Given the description of an element on the screen output the (x, y) to click on. 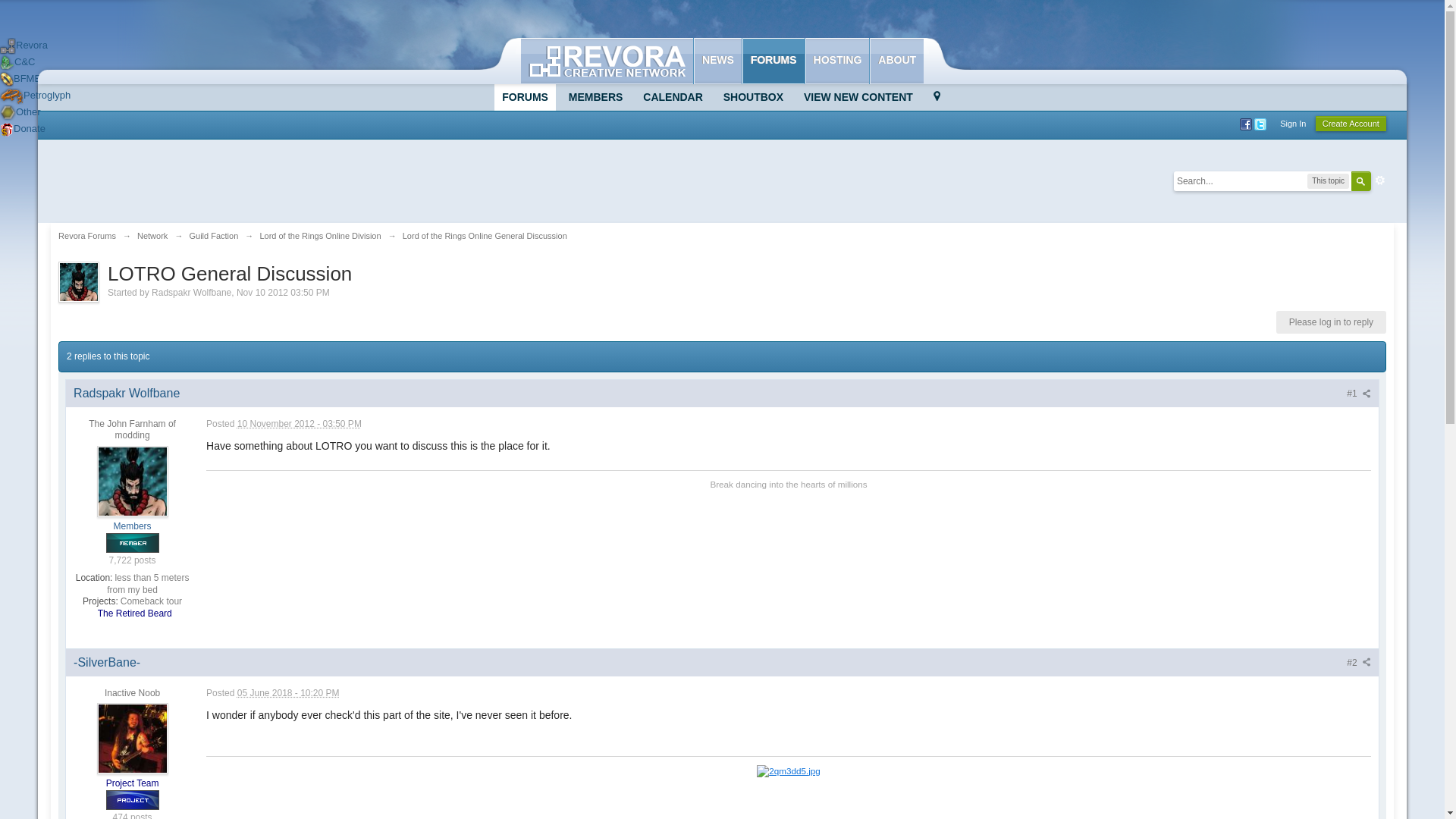
Sign In (1292, 122)
Lord of the Rings Online General Discussion (485, 235)
VIEW NEW CONTENT (858, 96)
BFME (20, 78)
NEWS (717, 60)
Revora Forums (87, 235)
Radspakr Wolfbane (126, 392)
Advanced Search (1380, 180)
Network (151, 235)
Advertisement (334, 181)
Go to Forums (525, 96)
Open Quick Navigation (936, 97)
Go to Shoutbox (753, 96)
Revora (24, 44)
Radspakr Wolfbane (191, 292)
